Given the description of an element on the screen output the (x, y) to click on. 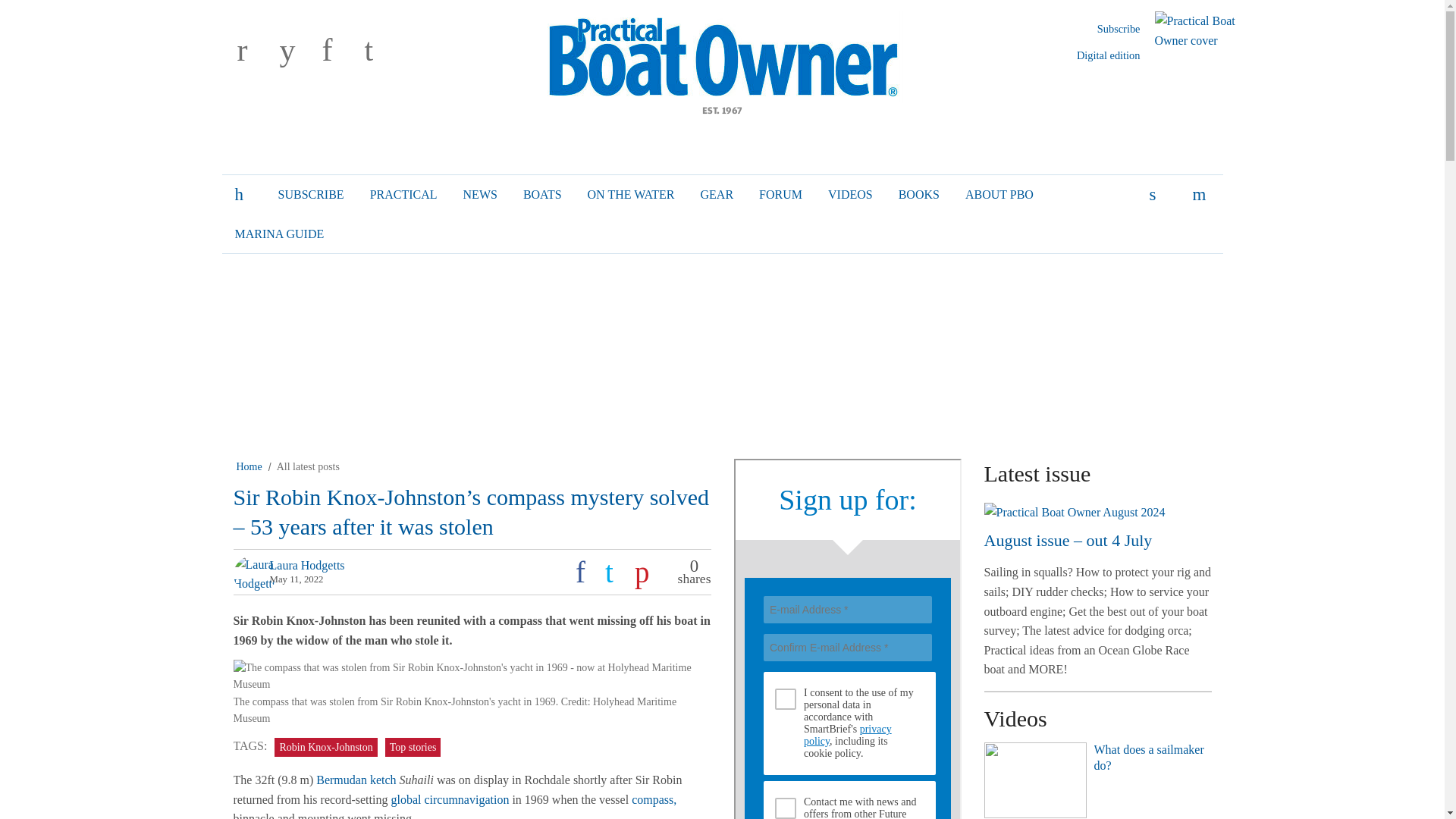
f (339, 52)
r (254, 52)
Subscribe (1118, 28)
y (297, 52)
Practical Boat Owner (721, 60)
Digital edition (1108, 55)
BOATS (543, 194)
FORUM (780, 194)
BOOKS (918, 194)
PRACTICAL (402, 194)
GEAR (716, 194)
ON THE WATER (631, 194)
All latest posts (307, 466)
Laura Hodgetts's Profile (307, 564)
ABOUT PBO (999, 194)
